Given the description of an element on the screen output the (x, y) to click on. 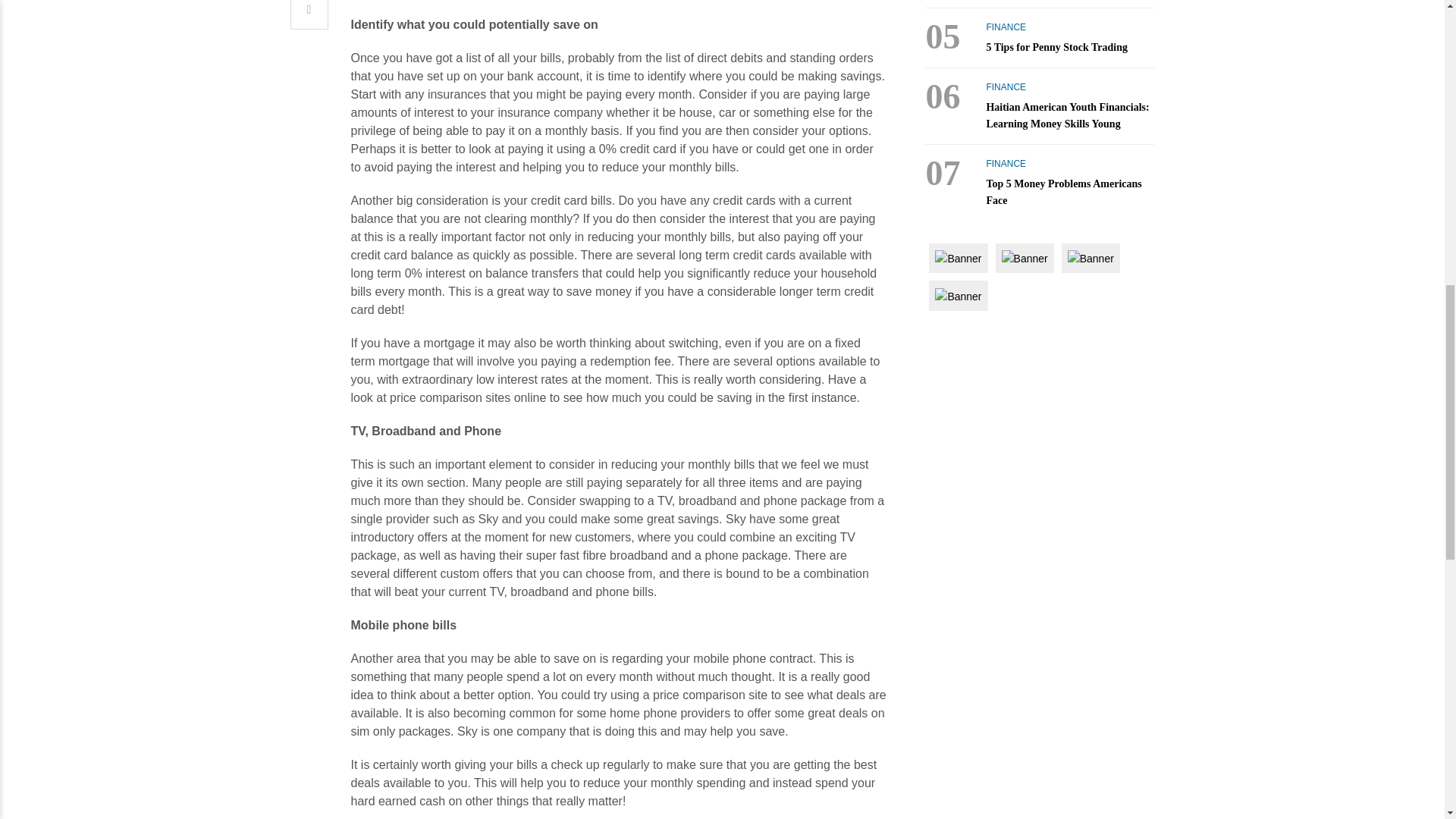
Banner (957, 296)
Banner (1024, 258)
Banner (957, 258)
Banner (1090, 258)
